Given the description of an element on the screen output the (x, y) to click on. 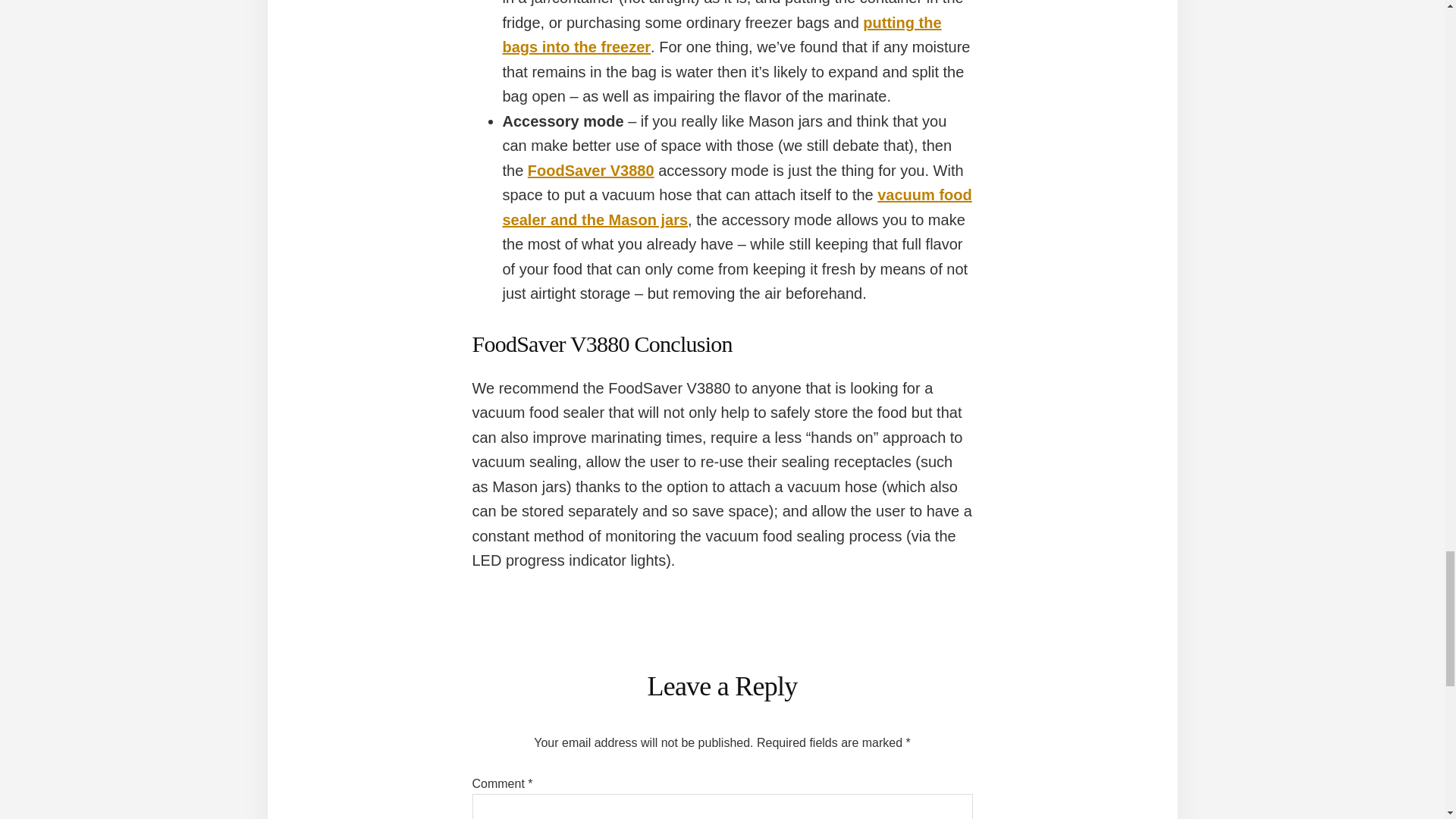
FoodSaver V3880 (590, 170)
vacuum food sealer and the Mason jars (736, 207)
putting the bags into the freezer (721, 35)
